Given the description of an element on the screen output the (x, y) to click on. 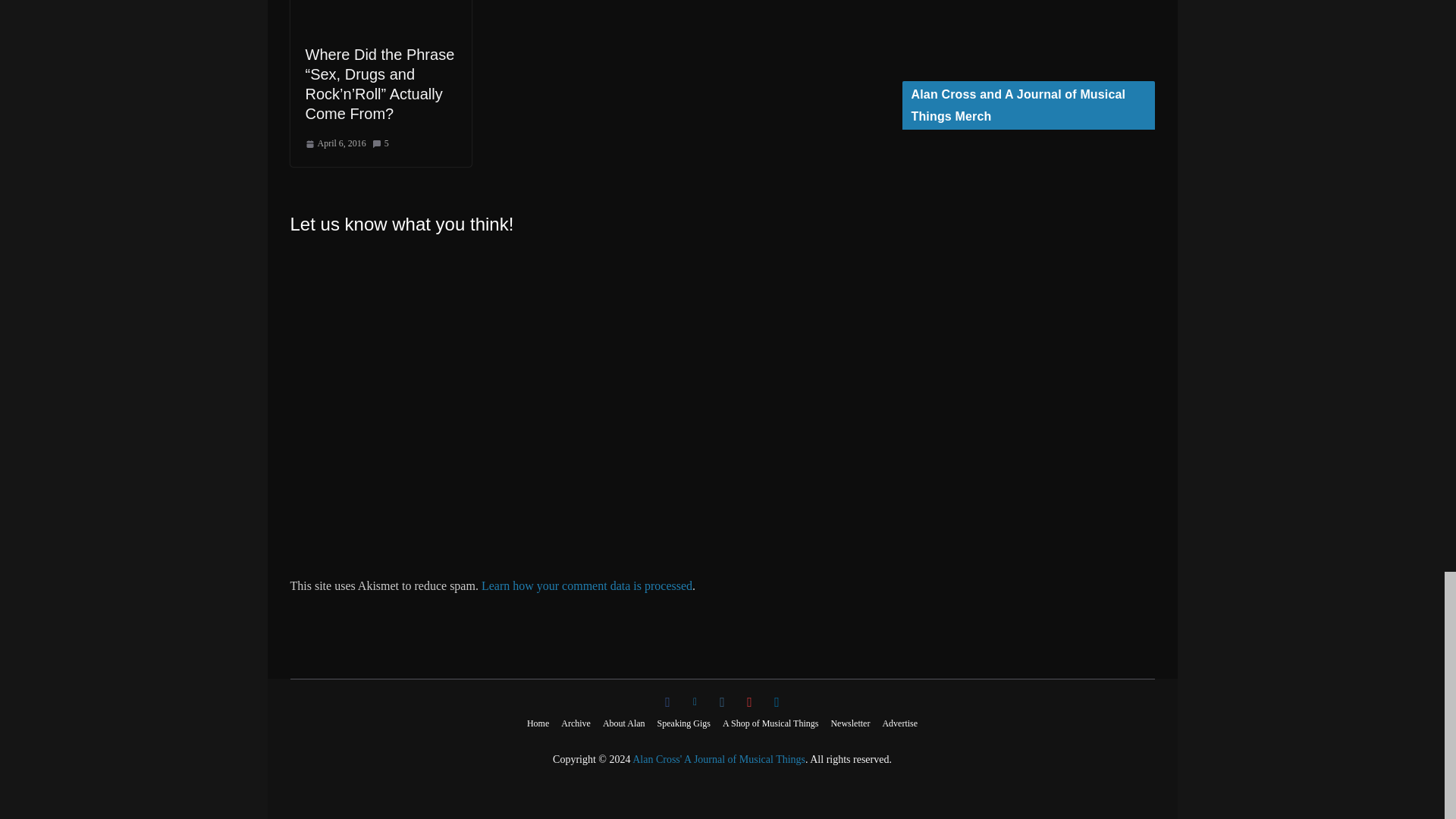
Alan Cross' A Journal of Musical Things (718, 758)
9:06 am (334, 143)
April 6, 2016 (334, 143)
Learn how your comment data is processed (587, 585)
